Given the description of an element on the screen output the (x, y) to click on. 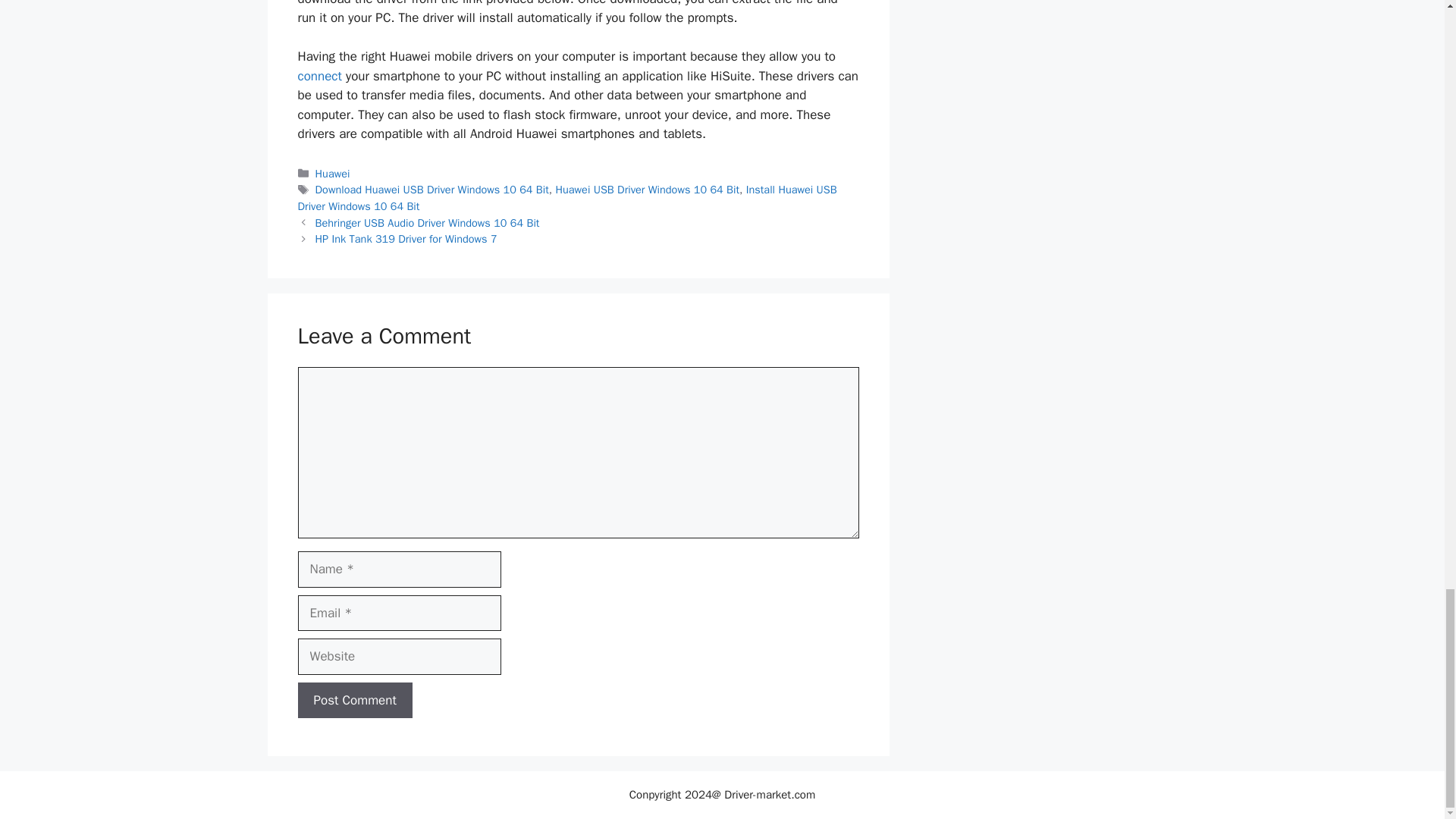
Huawei (332, 173)
Install Huawei USB Driver Windows 10 64 Bit (566, 197)
HP Ink Tank 319 Driver for Windows 7 (406, 238)
Download Huawei USB Driver Windows 10 64 Bit (431, 189)
Behringer USB Audio Driver Windows 10 64 Bit (427, 223)
Post Comment (354, 700)
Post Comment (354, 700)
connect (318, 75)
Huawei USB Driver Windows 10 64 Bit (647, 189)
